Given the description of an element on the screen output the (x, y) to click on. 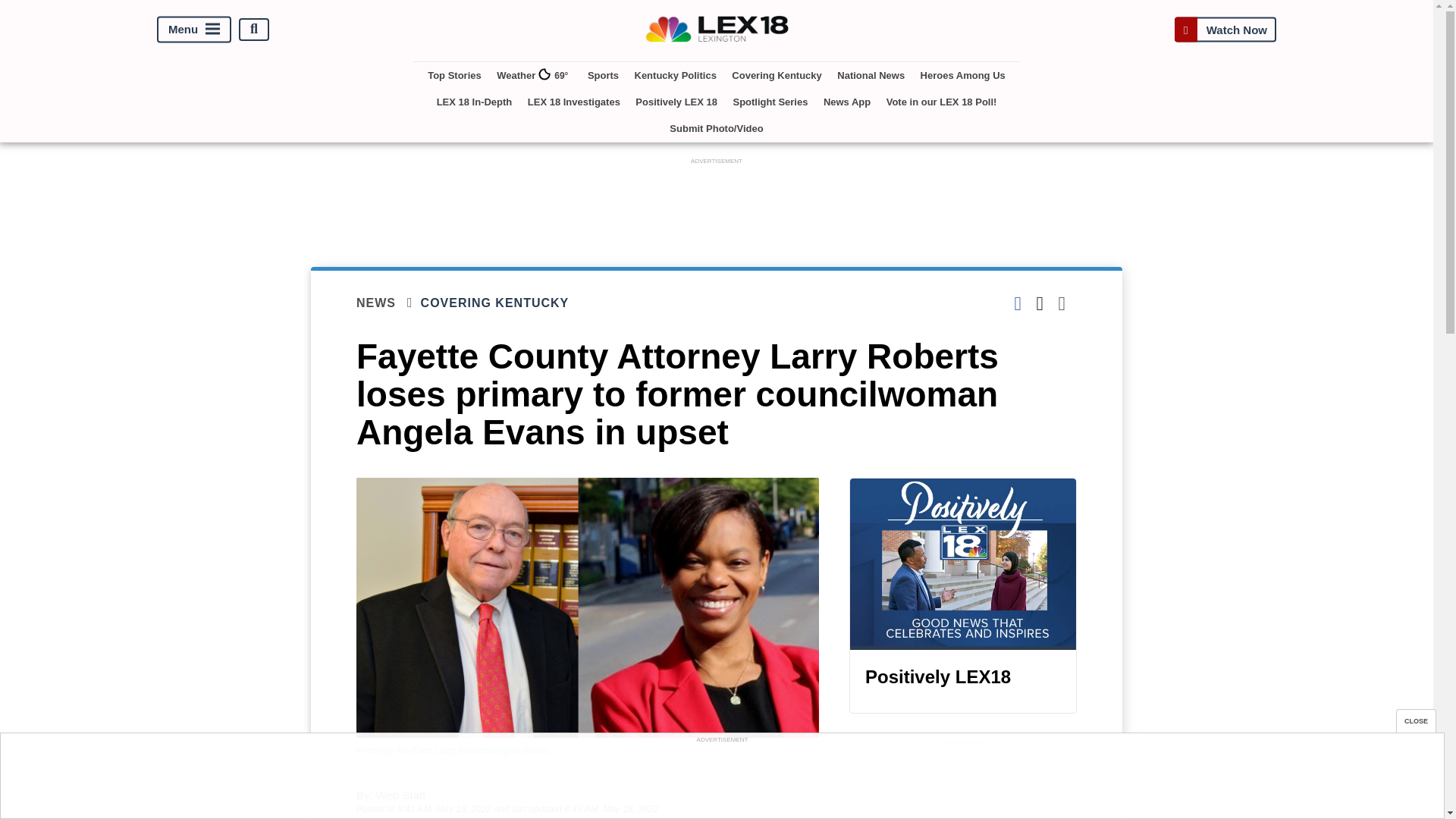
3rd party ad content (962, 785)
Watch Now (1224, 29)
3rd party ad content (721, 780)
Menu (194, 28)
3rd party ad content (716, 202)
